Given the description of an element on the screen output the (x, y) to click on. 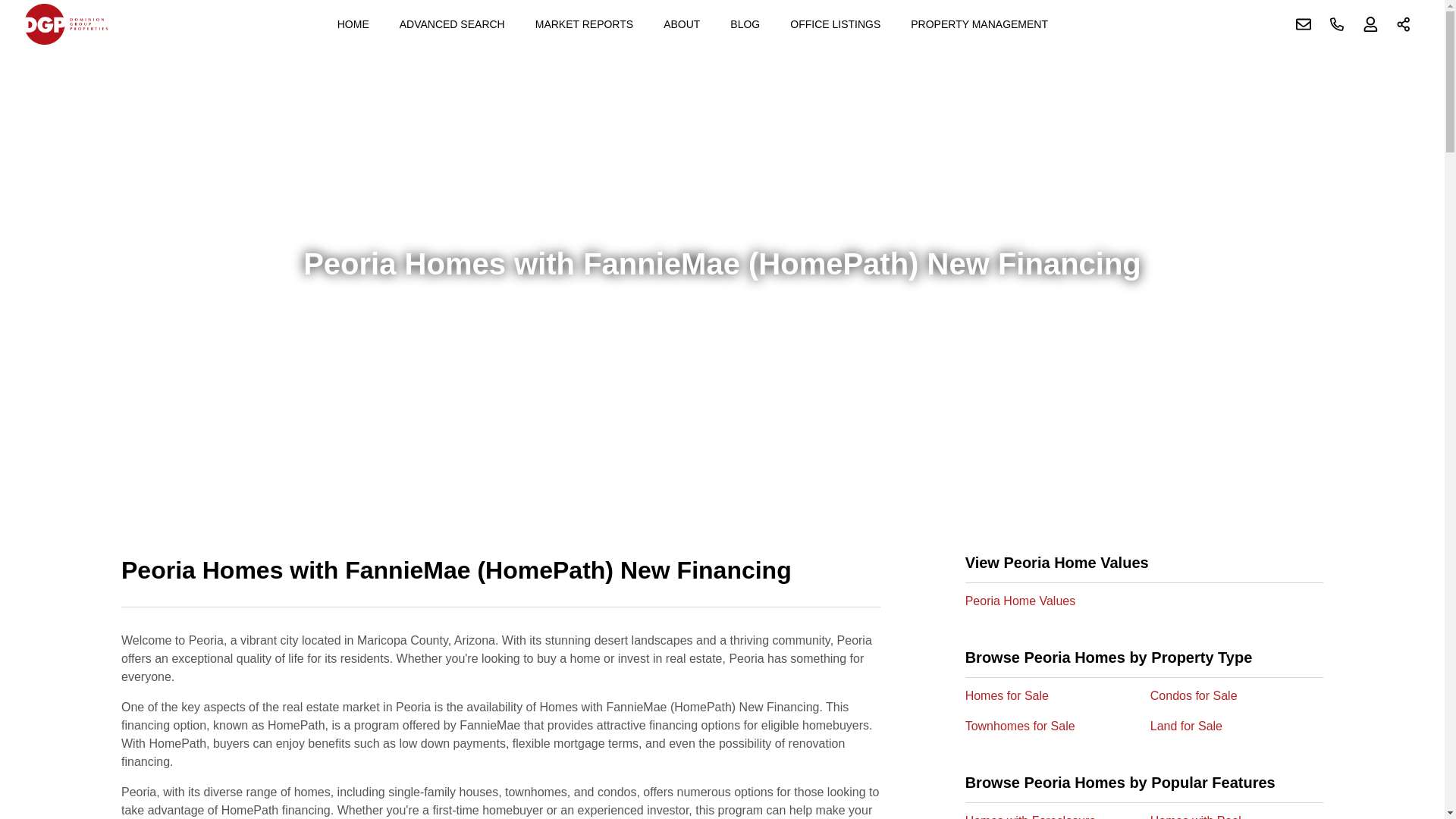
ADVANCED SEARCH (451, 24)
PROPERTY MANAGEMENT (979, 24)
OFFICE LISTINGS (834, 24)
Share (1404, 23)
Contact us (1303, 23)
HOME (353, 24)
MARKET REPORTS (583, 24)
Dgpaz.com (65, 24)
BLOG (744, 24)
ABOUT (681, 24)
